Given the description of an element on the screen output the (x, y) to click on. 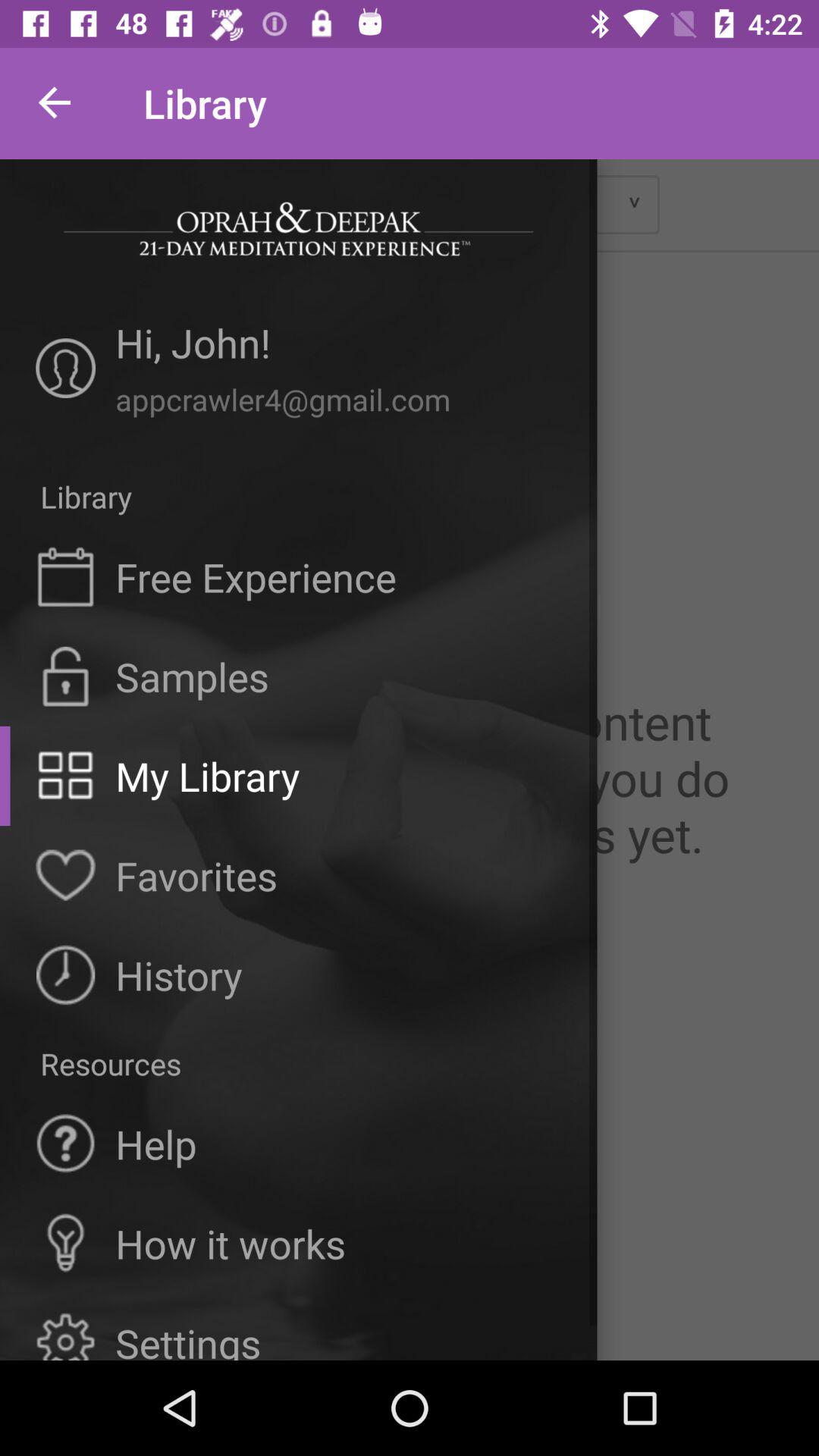
open item above hi, john! icon (298, 228)
